Given the description of an element on the screen output the (x, y) to click on. 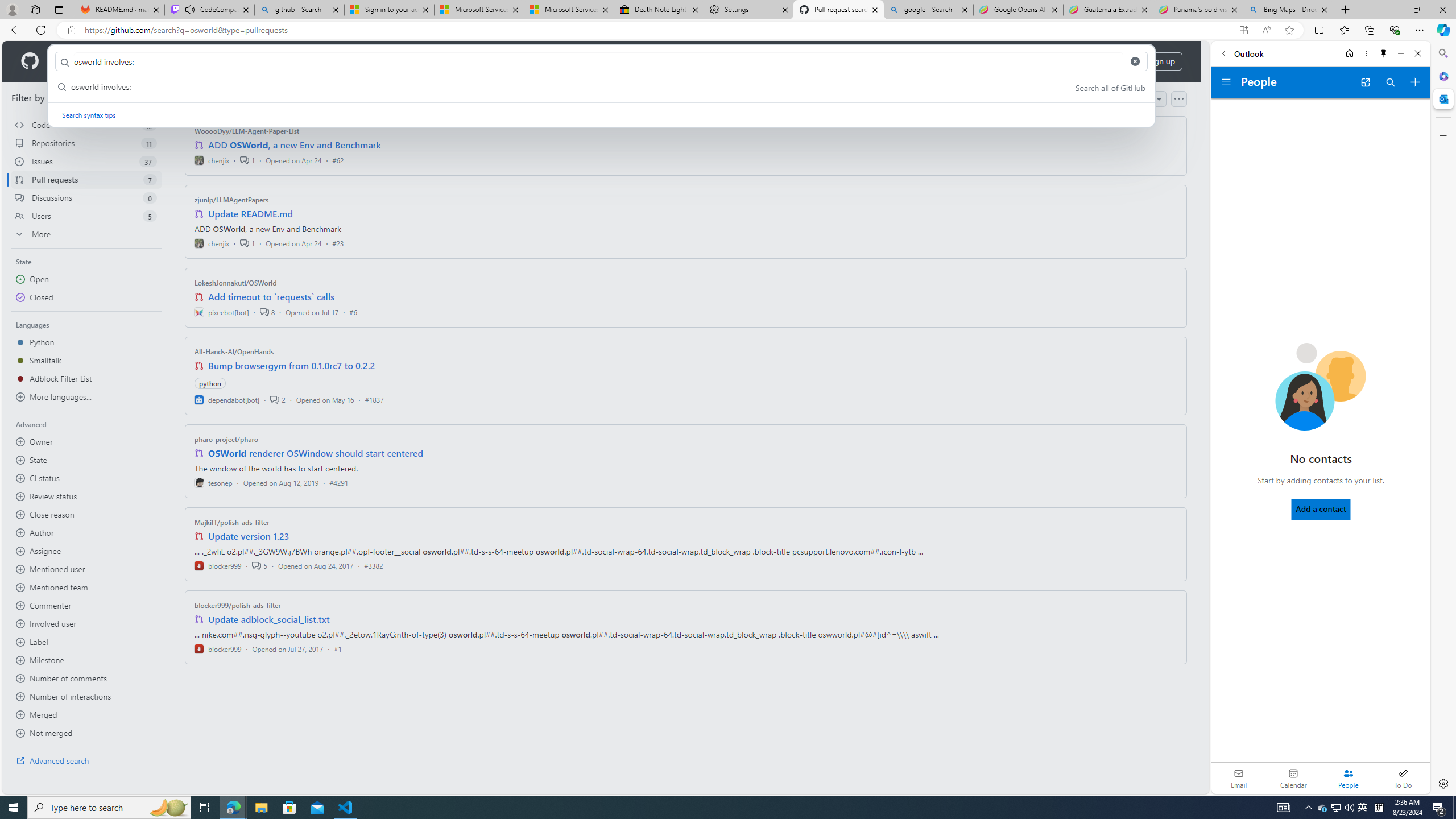
Google Opens AI Academy for Startups - Nearshore Americas (1018, 9)
Enterprise (319, 60)
Draggable pane splitter (169, 427)
#23 (337, 242)
Product (74, 60)
OSWorld renderer OSWindow should start centered (315, 453)
MajkiIT/polish-ads-filter (232, 521)
